Given the description of an element on the screen output the (x, y) to click on. 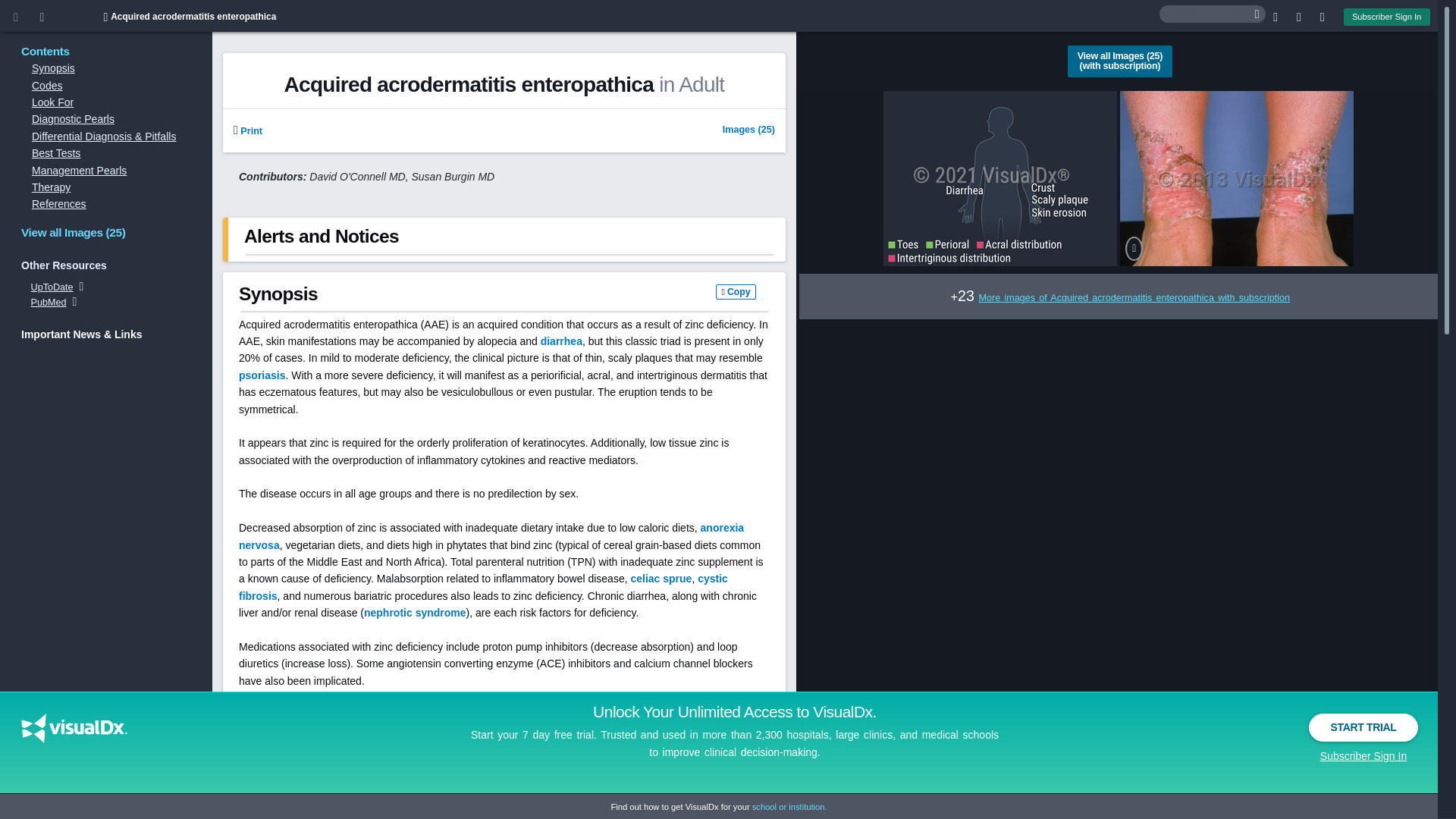
START TRIAL (1363, 727)
school or institution. (789, 807)
Subscription Required (247, 131)
Subscriber Sign In (1363, 755)
Subscriber Sign In (1386, 16)
Unlock Your Unlimited Access to VisualDx. (734, 711)
